Given the description of an element on the screen output the (x, y) to click on. 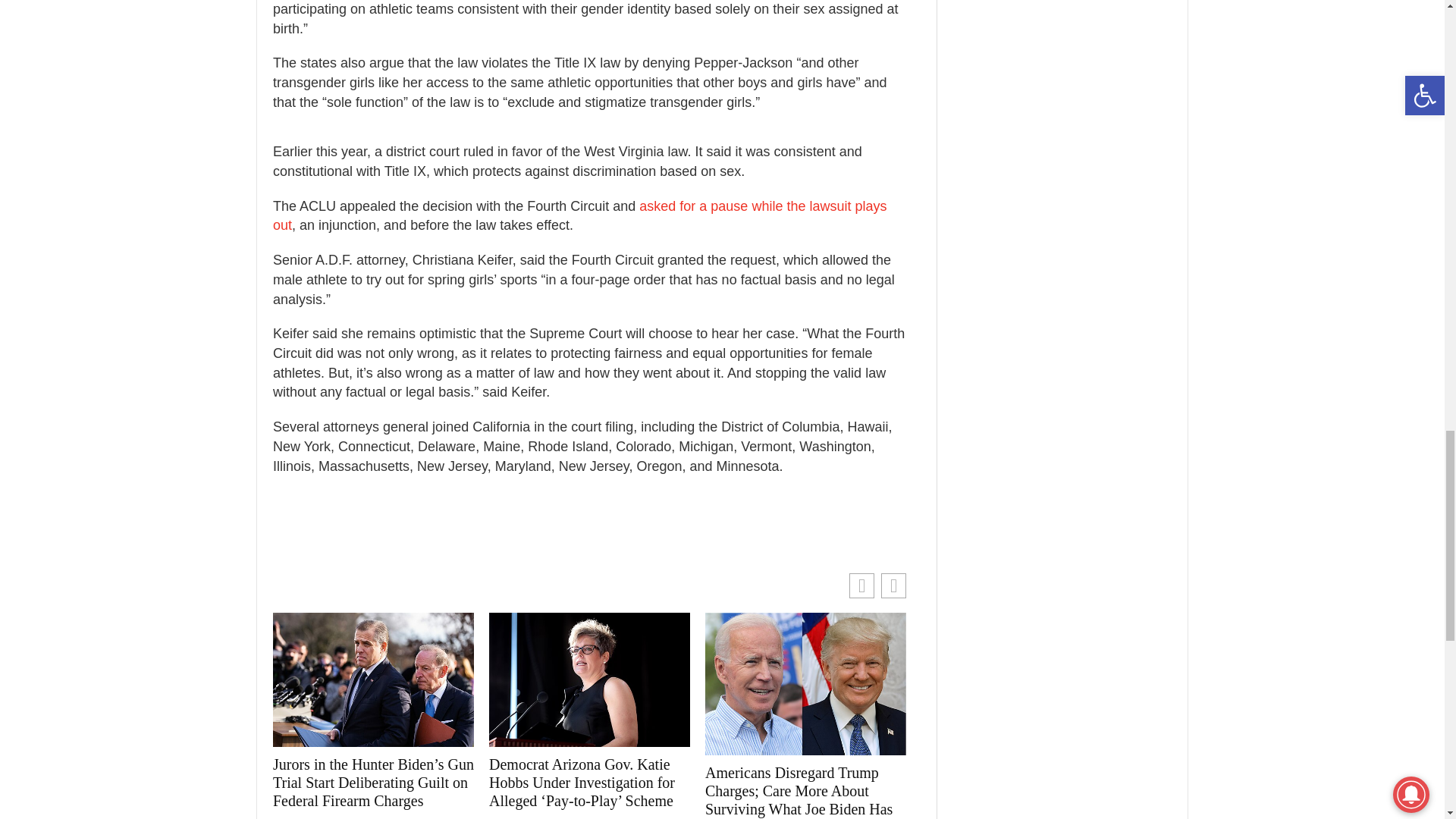
asked for a pause while the lawsuit plays out (579, 216)
